Given the description of an element on the screen output the (x, y) to click on. 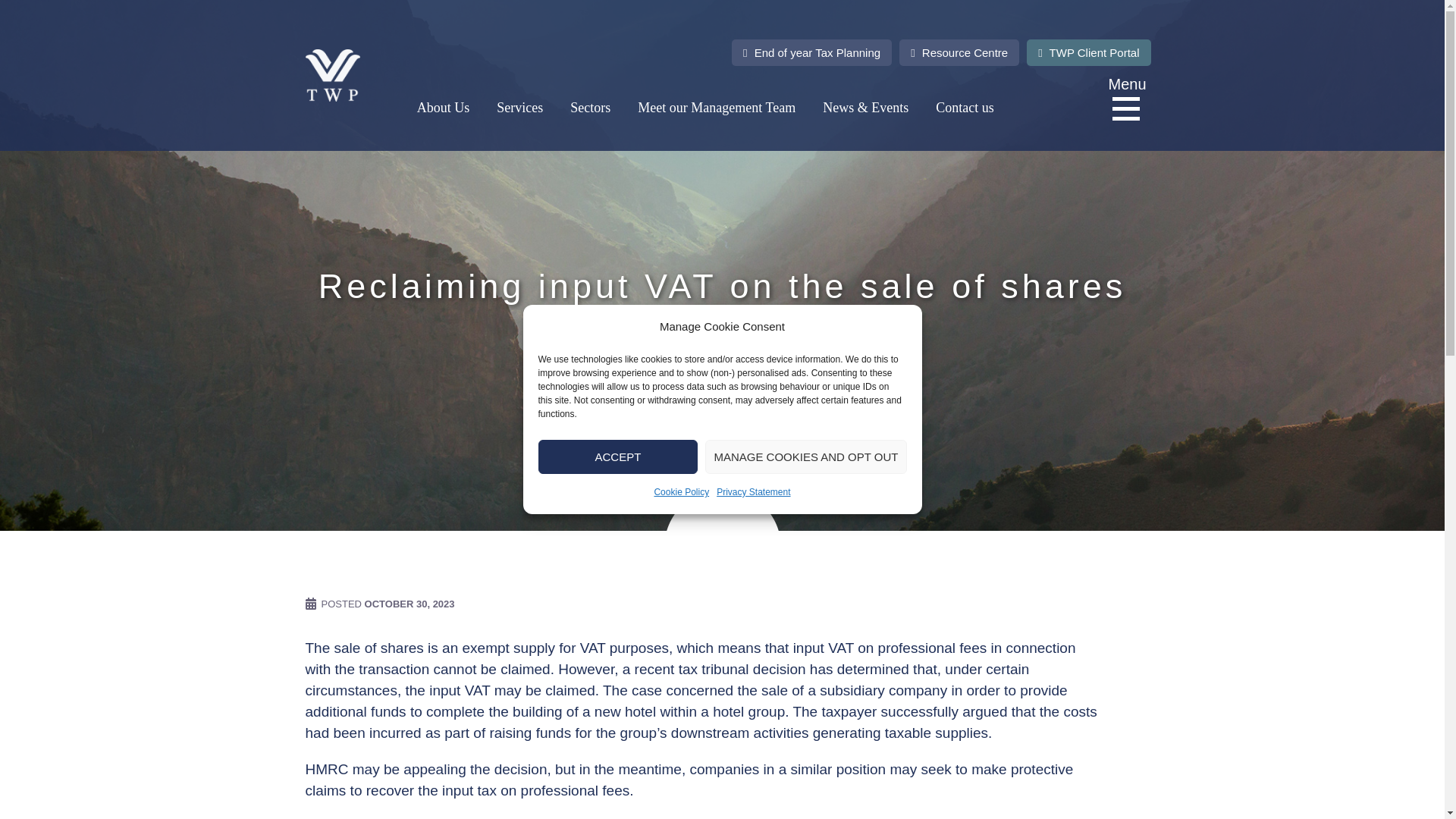
ACCEPT (618, 456)
Cookie Policy (681, 491)
TWP Client Portal (1088, 52)
MANAGE COOKIES AND OPT OUT (804, 456)
Meet our Management Team (715, 107)
TWP Accounting (331, 74)
Sectors (590, 107)
Privacy Statement (753, 491)
About Us (443, 107)
End of year Tax Planning (811, 52)
Services (519, 107)
Resource Centre (959, 52)
